Given the description of an element on the screen output the (x, y) to click on. 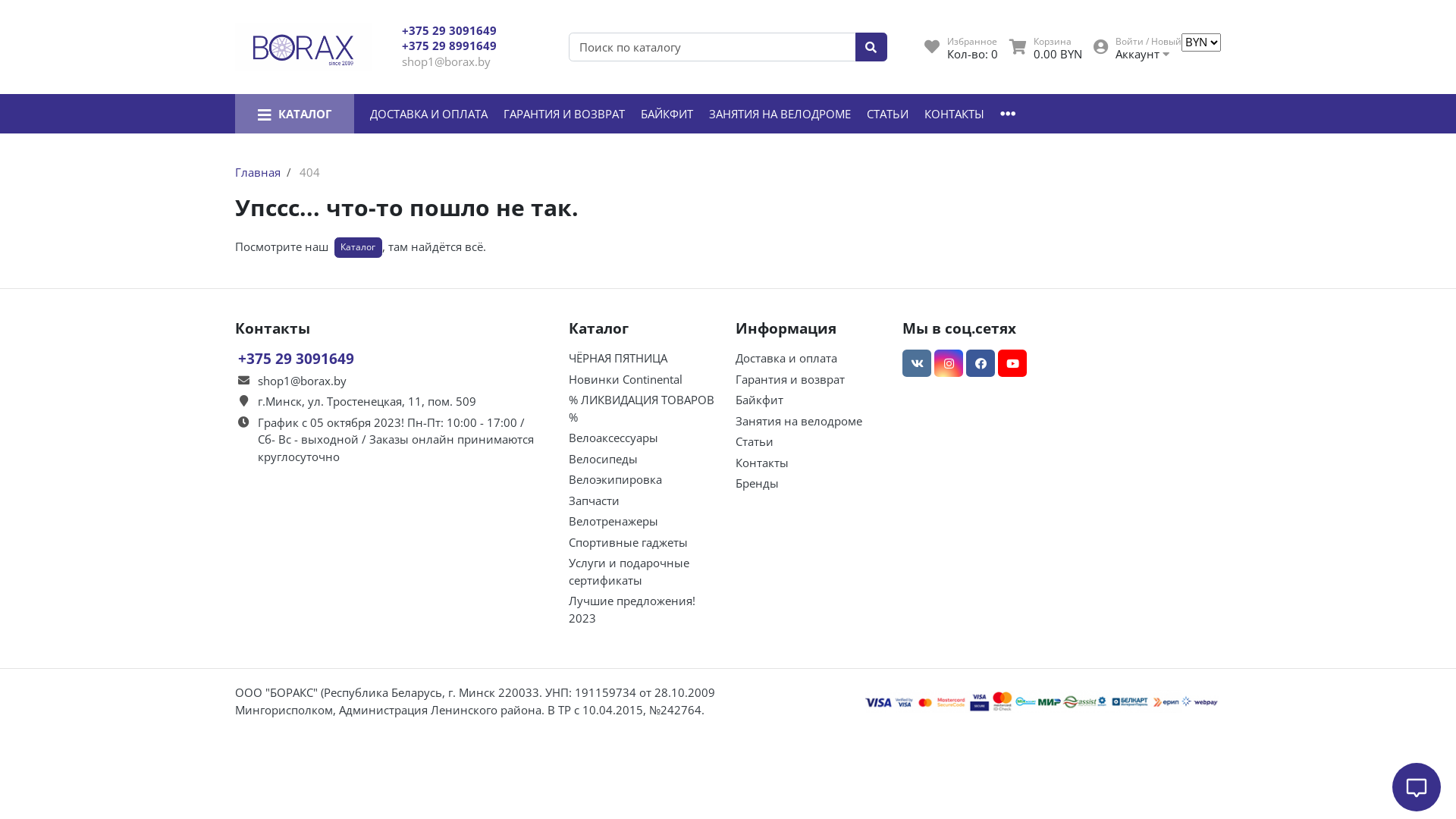
+375 29 3091649 Element type: text (296, 357)
404 Element type: text (309, 171)
shop1@borax.by Element type: text (445, 61)
+375 29 3091649 Element type: text (448, 29)
shop1@borax.by Element type: text (301, 380)
+375 29 8991649 Element type: text (448, 45)
